Given the description of an element on the screen output the (x, y) to click on. 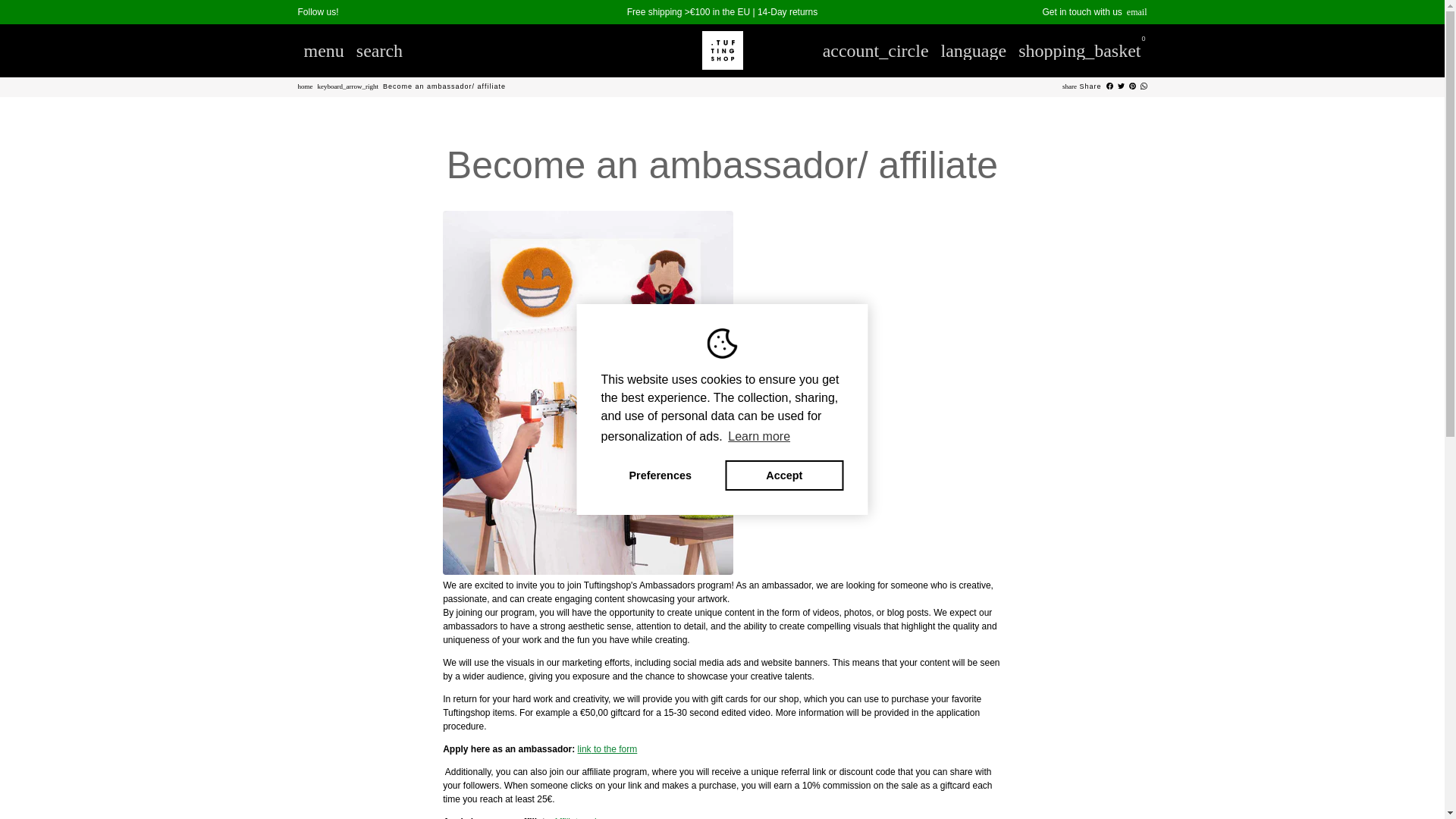
Menu (323, 50)
Preferences (659, 475)
Log In (875, 50)
Search (379, 50)
Accept (784, 475)
Learn more (758, 436)
